Given the description of an element on the screen output the (x, y) to click on. 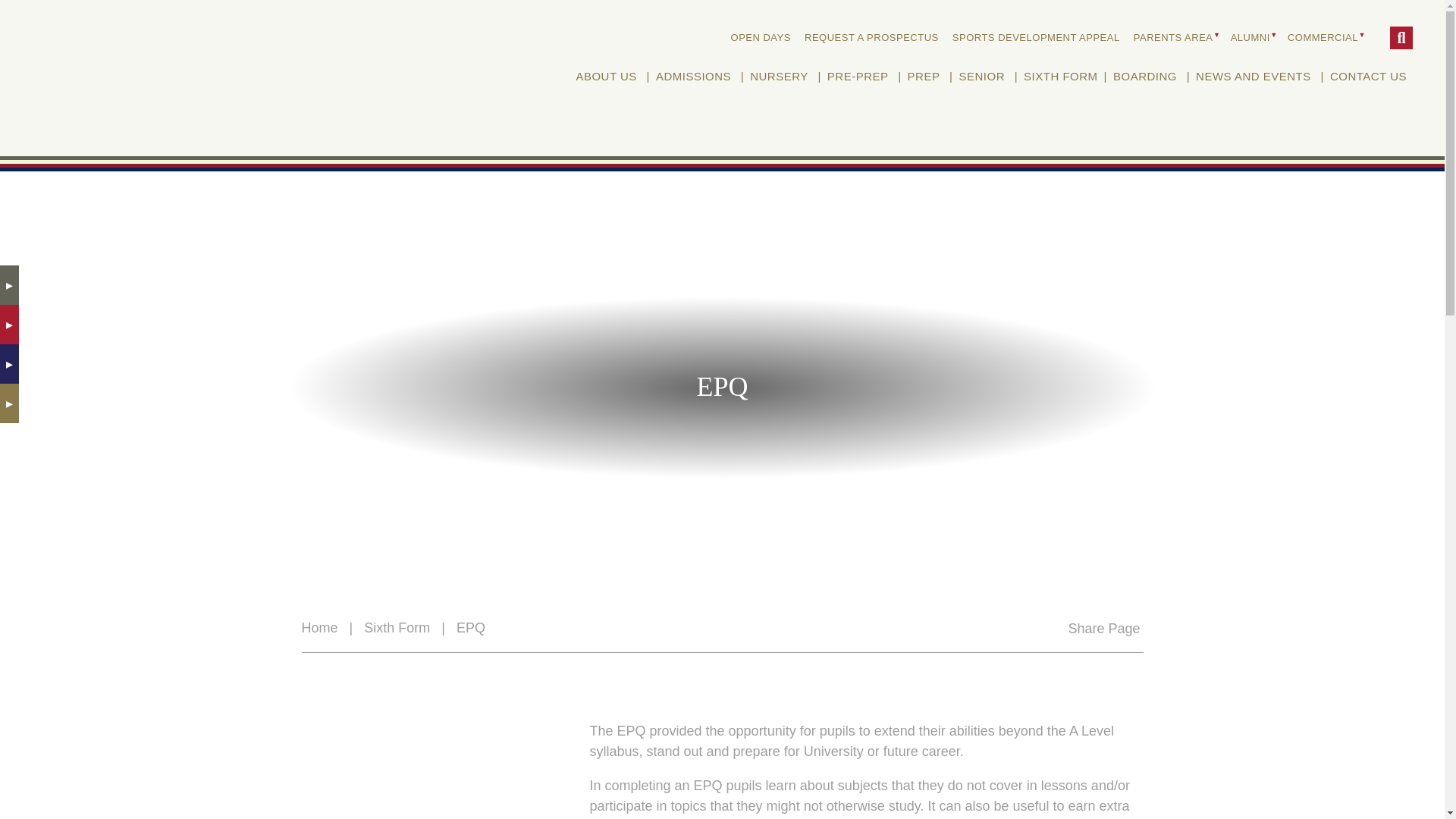
REQUEST A PROSPECTUS (871, 37)
ADMISSIONS (692, 76)
Search (1401, 37)
Go to St Lawrence College Independent School. (319, 627)
OPEN DAYS (760, 37)
COMMERCIAL (1324, 37)
PARENTS AREA (1175, 37)
ABOUT US (605, 76)
Go to Sixth Form. (396, 627)
SPORTS DEVELOPMENT APPEAL (1036, 37)
